Given the description of an element on the screen output the (x, y) to click on. 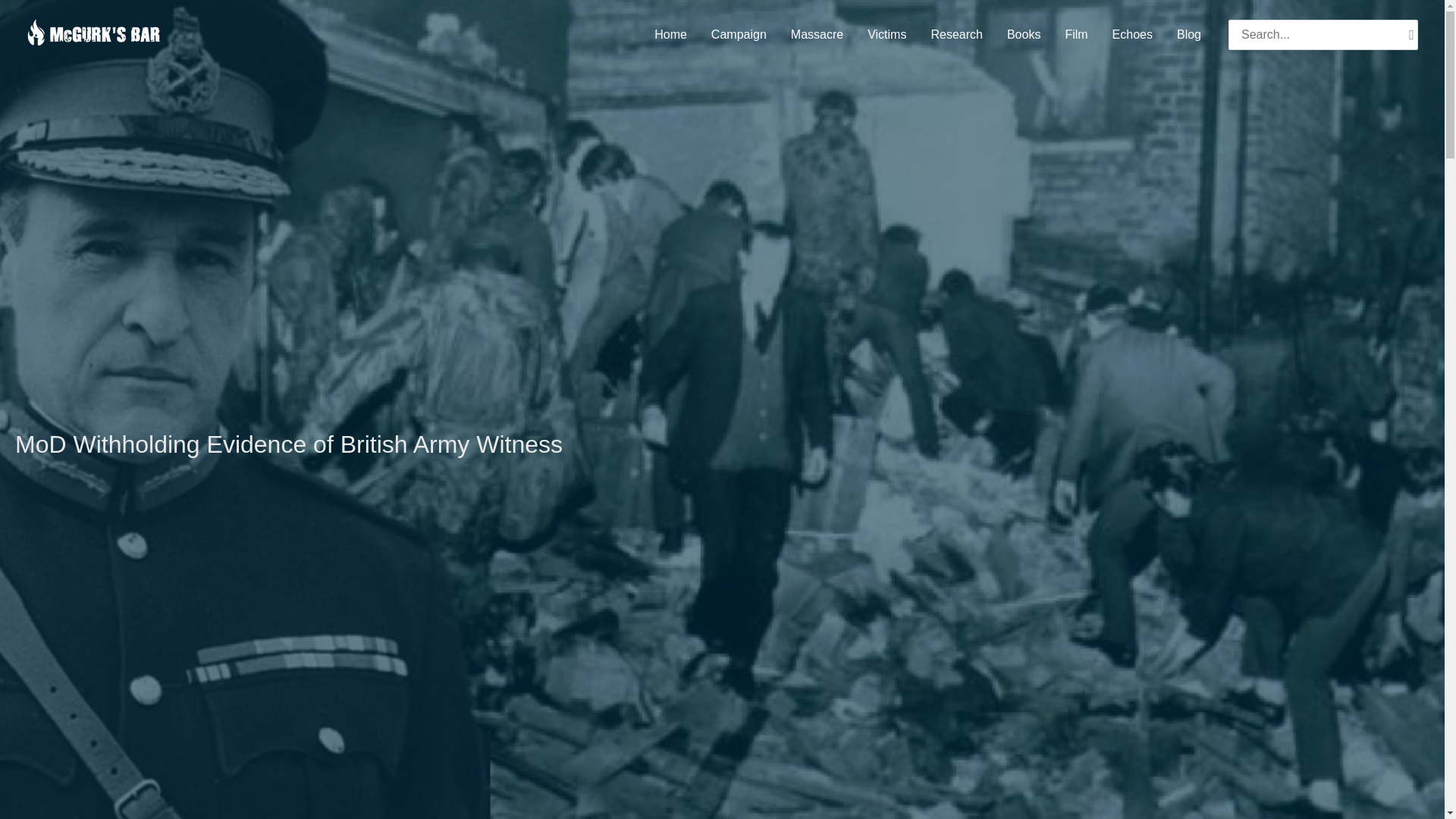
Research (956, 34)
Massacre (817, 34)
Victims (887, 34)
Home (670, 34)
Blog (1188, 34)
Echoes (1132, 34)
Books (1023, 34)
Campaign (738, 34)
